Given the description of an element on the screen output the (x, y) to click on. 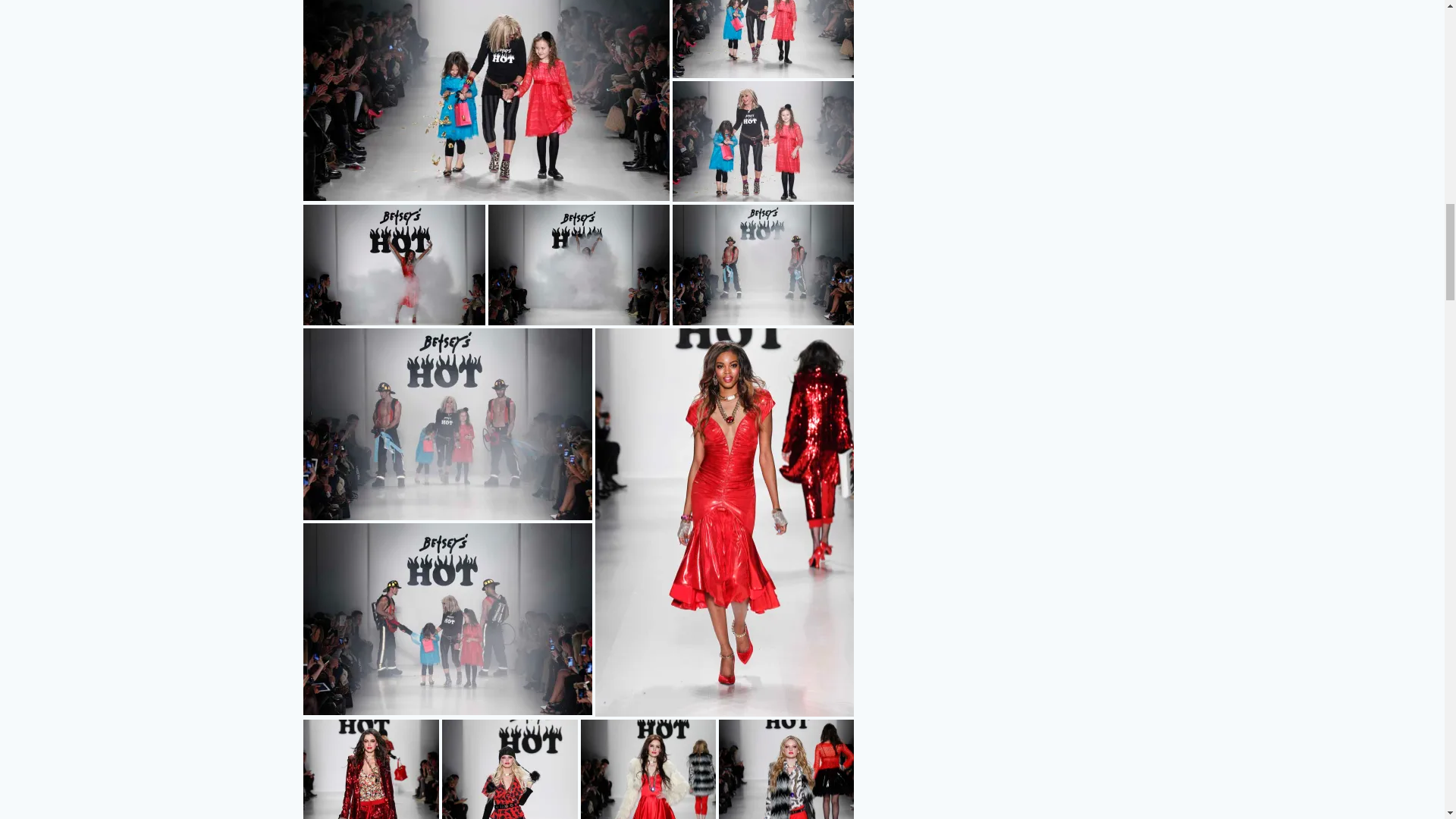
FW14 NANETTE LEPORE NEW YORK (485, 100)
FW14 NANETTE LEPORE NEW YORK (762, 141)
FW14 NANETTE LEPORE NEW YORK (762, 38)
